Given the description of an element on the screen output the (x, y) to click on. 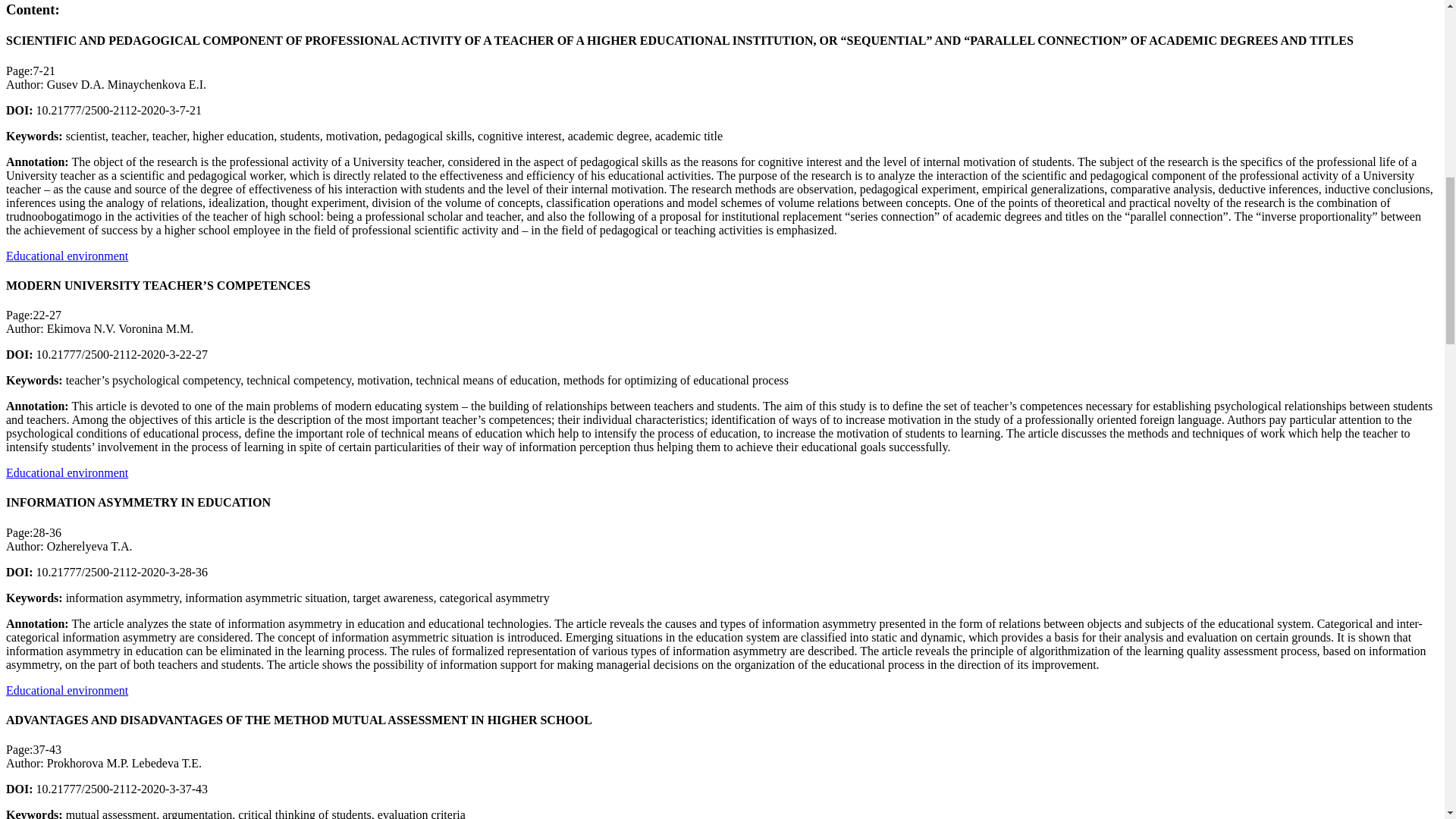
Educational environment (66, 254)
Educational environment (66, 472)
Educational environment (66, 689)
